Given the description of an element on the screen output the (x, y) to click on. 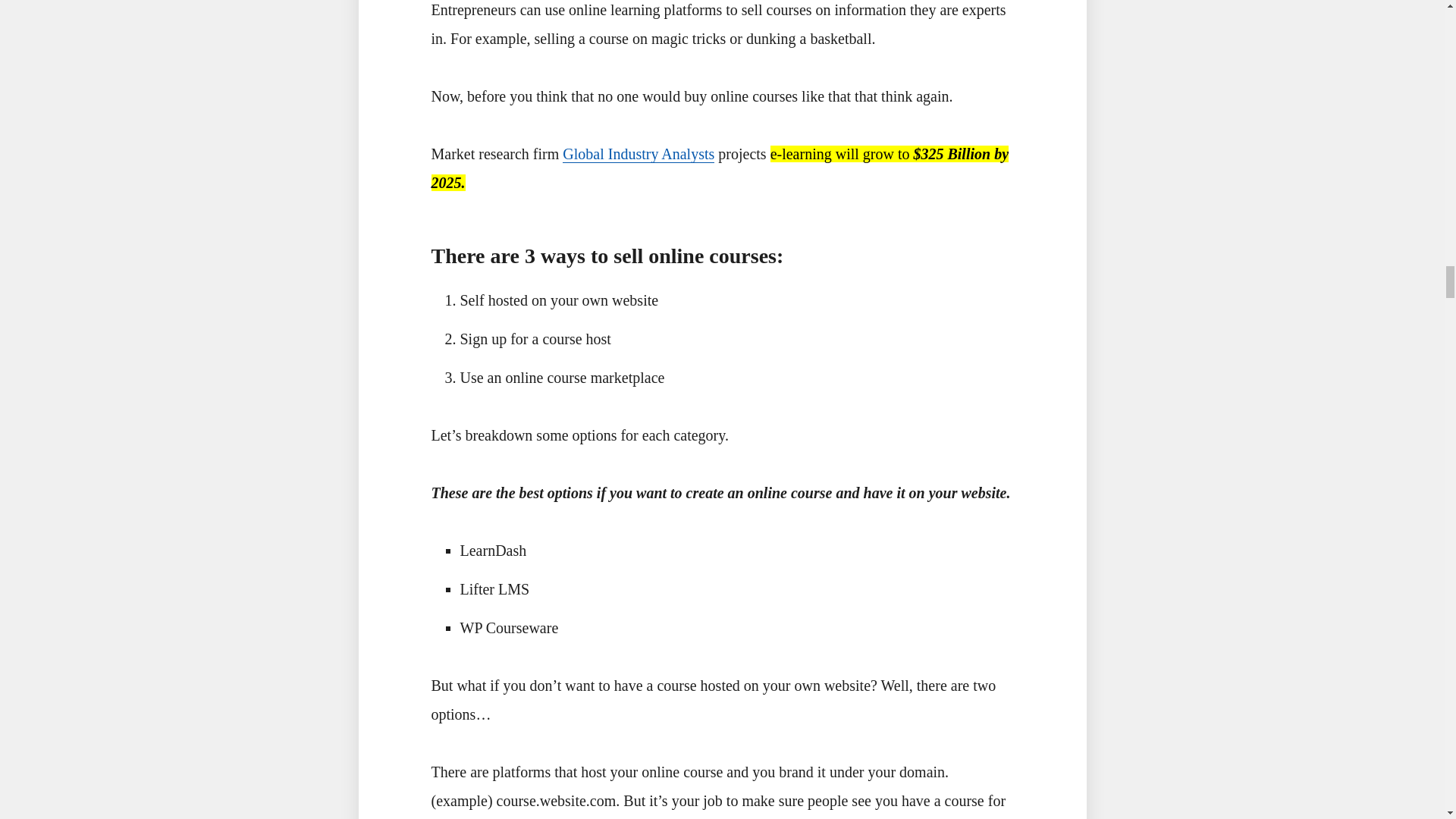
Global Industry Analysts (638, 153)
